Given the description of an element on the screen output the (x, y) to click on. 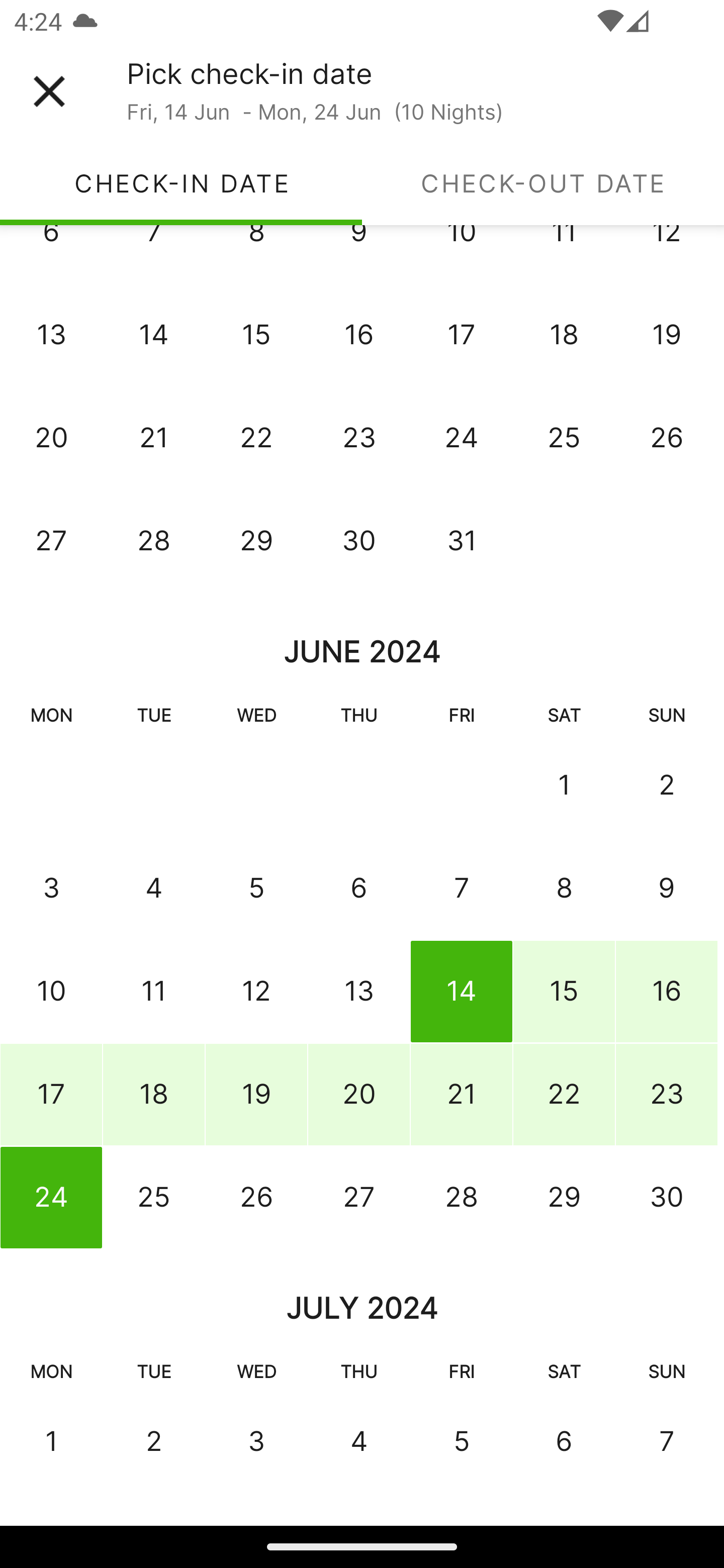
Check-out Date CHECK-OUT DATE (543, 183)
